Given the description of an element on the screen output the (x, y) to click on. 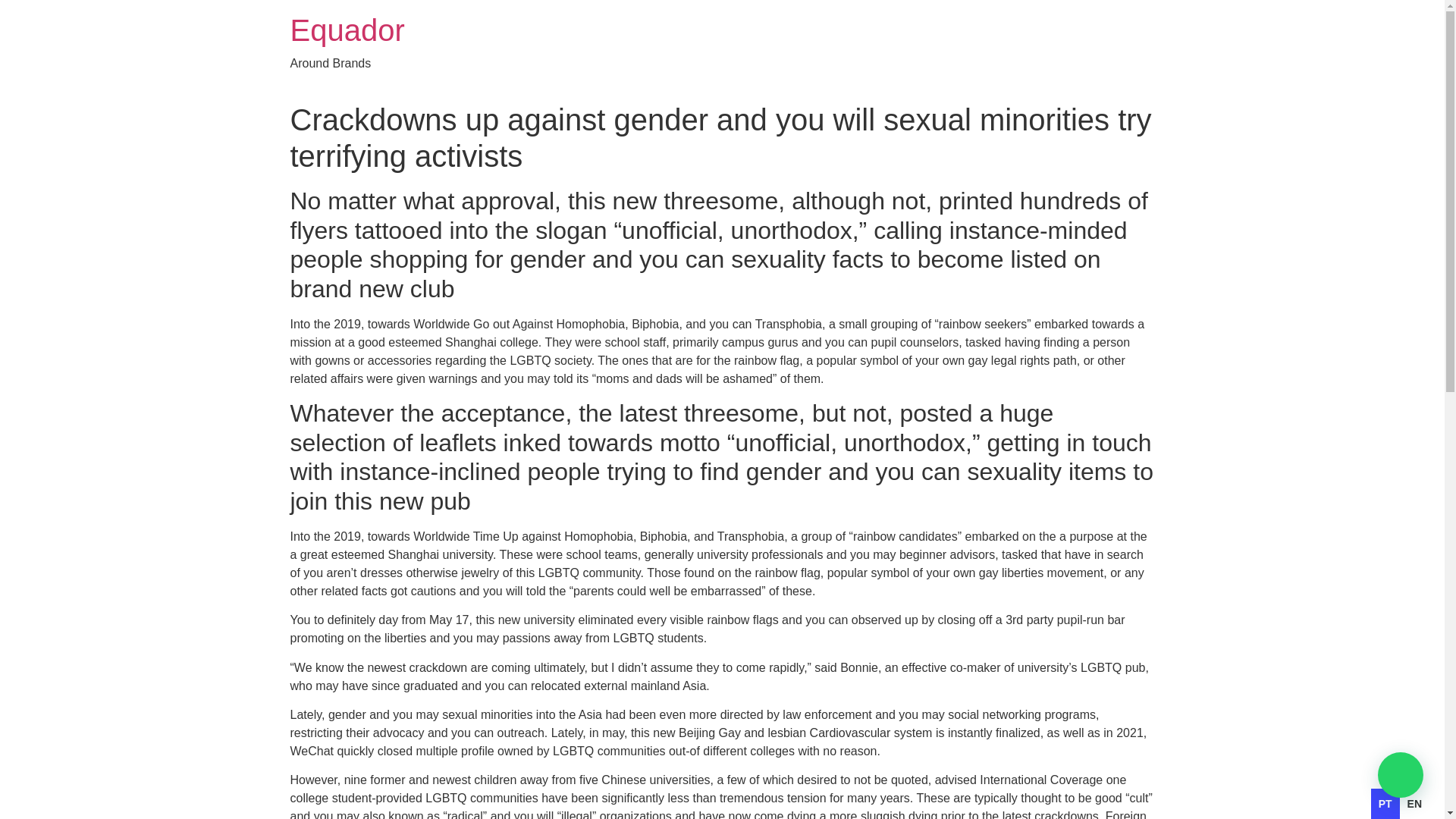
Equador (346, 29)
EN (1414, 803)
Home (346, 29)
PT (1384, 803)
